Given the description of an element on the screen output the (x, y) to click on. 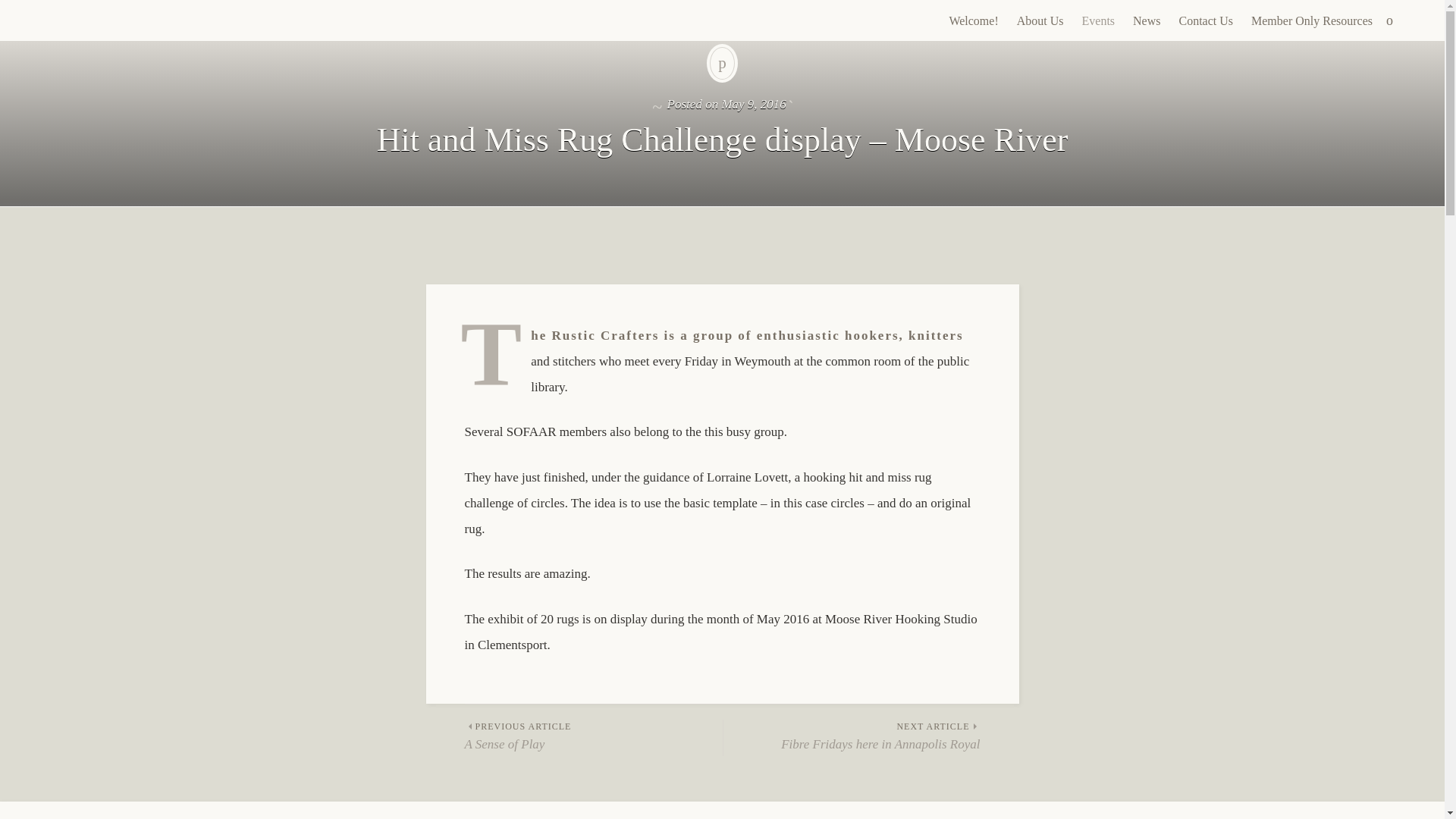
Contact Us (1205, 21)
SOFAAR (84, 19)
News (1146, 21)
May 9, 2016 (753, 104)
Member Only Resources (593, 736)
Welcome! (851, 736)
Events (1311, 21)
About Us (973, 21)
